Given the description of an element on the screen output the (x, y) to click on. 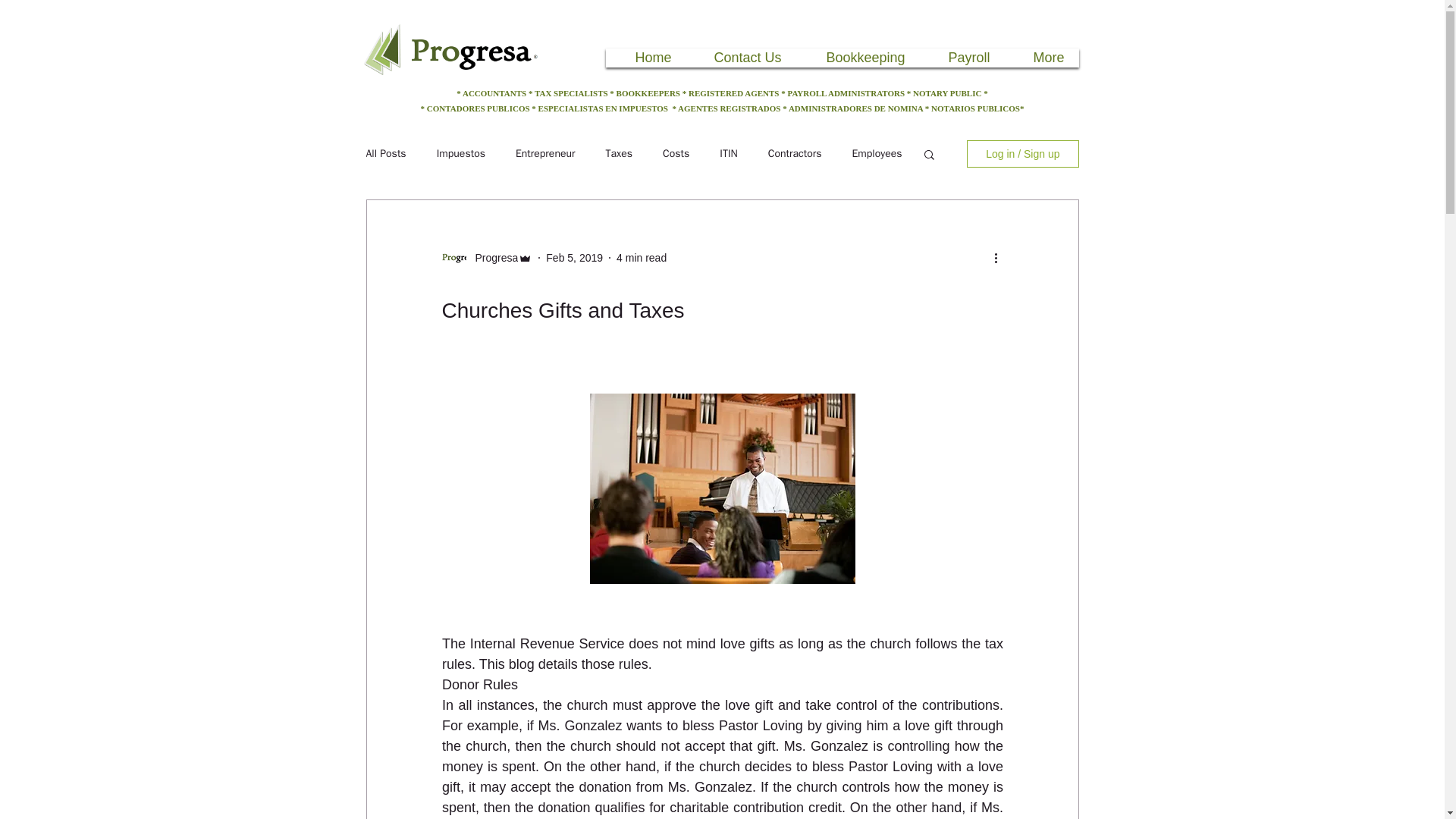
Taxes (618, 153)
Bookkeeping (858, 57)
Payroll (963, 57)
Employees (876, 153)
4 min read (640, 257)
Contractors (795, 153)
Impuestos (460, 153)
Progresa logo con R GIF MASTER.gif (451, 53)
Contact Us (743, 57)
Feb 5, 2019 (574, 257)
Home (647, 57)
ITIN (728, 153)
Entrepreneur (545, 153)
Progresa (491, 258)
All Posts (385, 153)
